Given the description of an element on the screen output the (x, y) to click on. 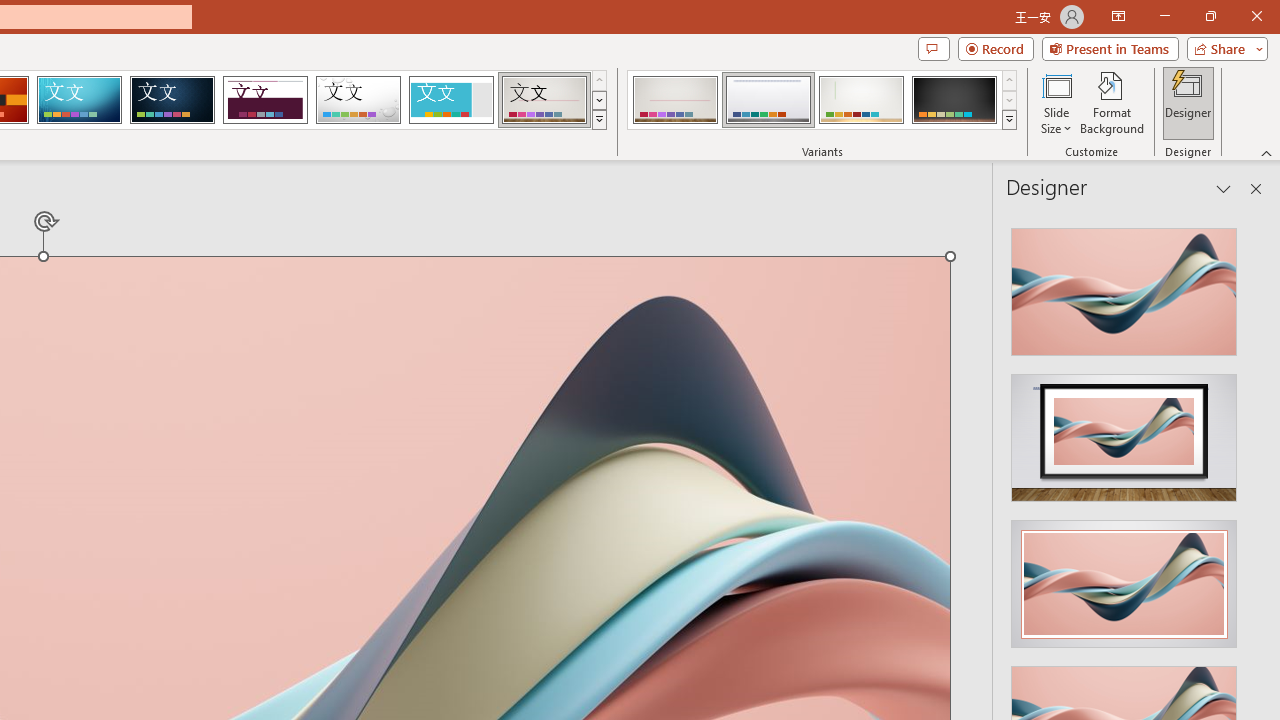
Damask (171, 100)
Gallery Variant 4 (953, 100)
Variants (1009, 120)
Frame (450, 100)
Gallery Variant 3 (861, 100)
Circuit (79, 100)
